Given the description of an element on the screen output the (x, y) to click on. 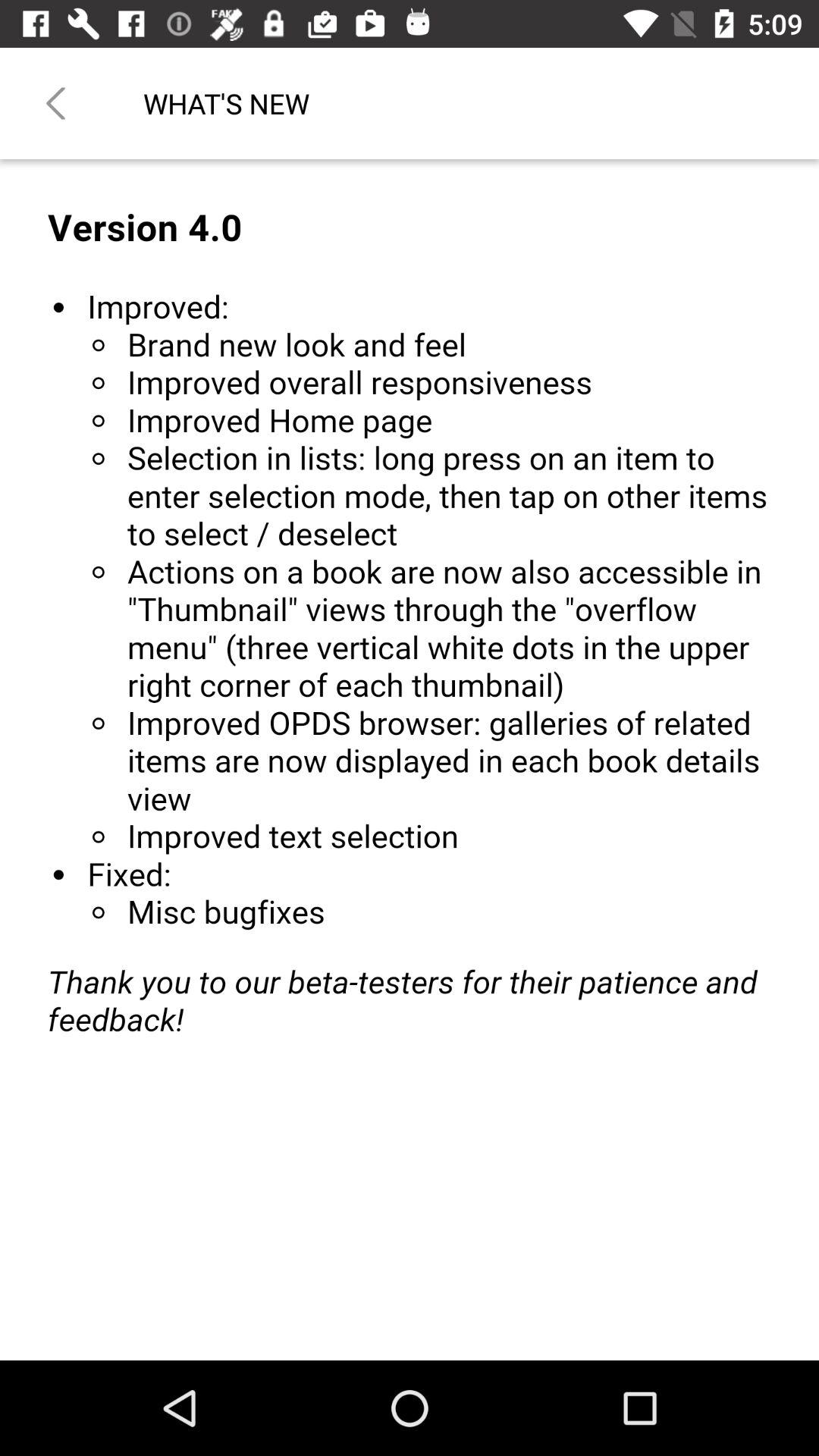
launch the item to the left of the what's new (55, 103)
